Given the description of an element on the screen output the (x, y) to click on. 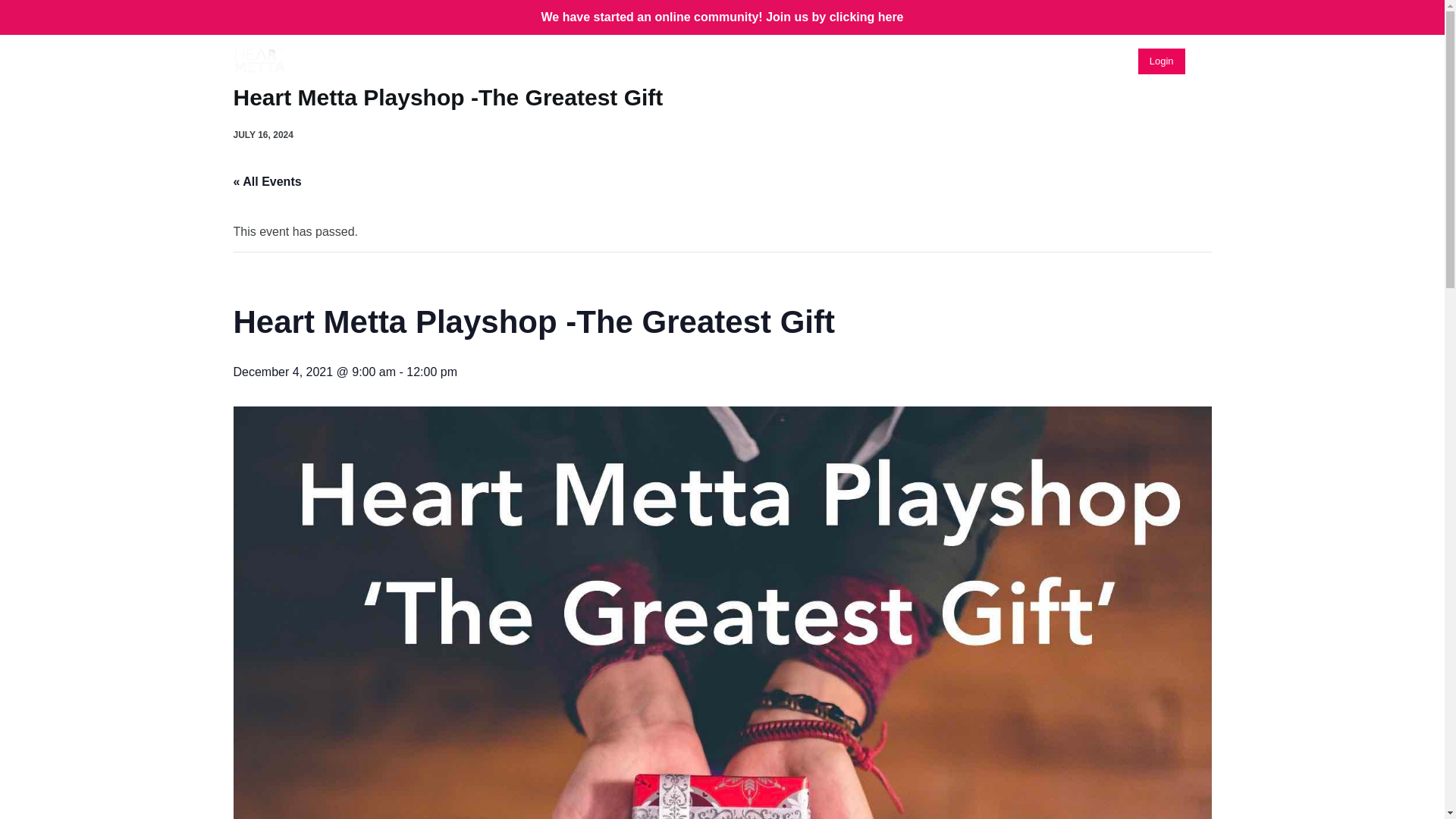
Skip to content (15, 7)
About (687, 61)
Heart Metta Playshop -The Greatest Gift (721, 97)
Shopping cart (1205, 61)
Events (846, 61)
Contact (1025, 61)
Home (603, 61)
Blog (769, 61)
Login (1161, 61)
